Given the description of an element on the screen output the (x, y) to click on. 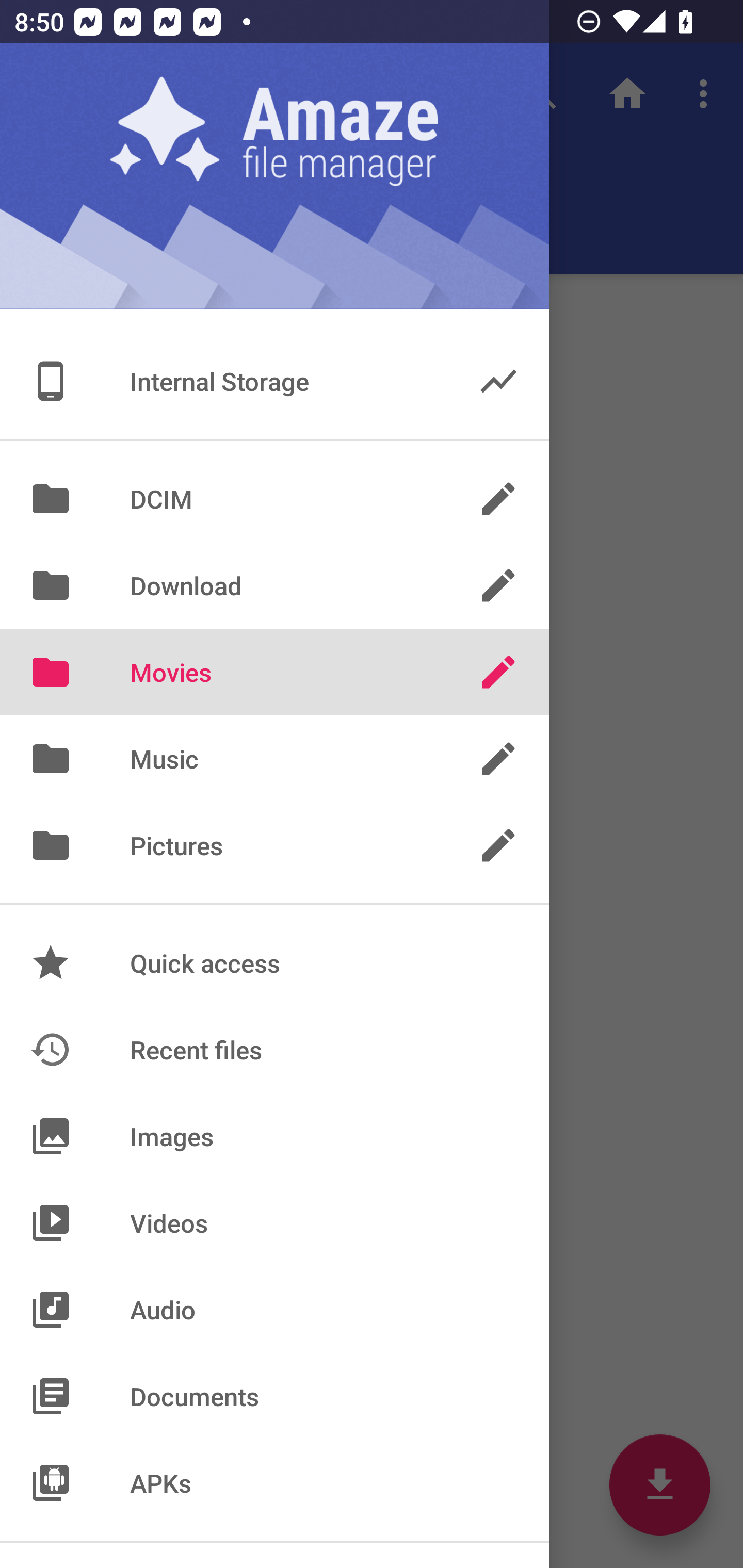
Internal Storage (274, 380)
DCIM (274, 498)
Download (274, 585)
Movies (274, 671)
Music (274, 758)
Pictures (274, 845)
Quick access (274, 963)
Recent files (274, 1049)
Images (274, 1135)
Videos (274, 1222)
Audio (274, 1309)
Documents (274, 1396)
APKs (274, 1482)
